Given the description of an element on the screen output the (x, y) to click on. 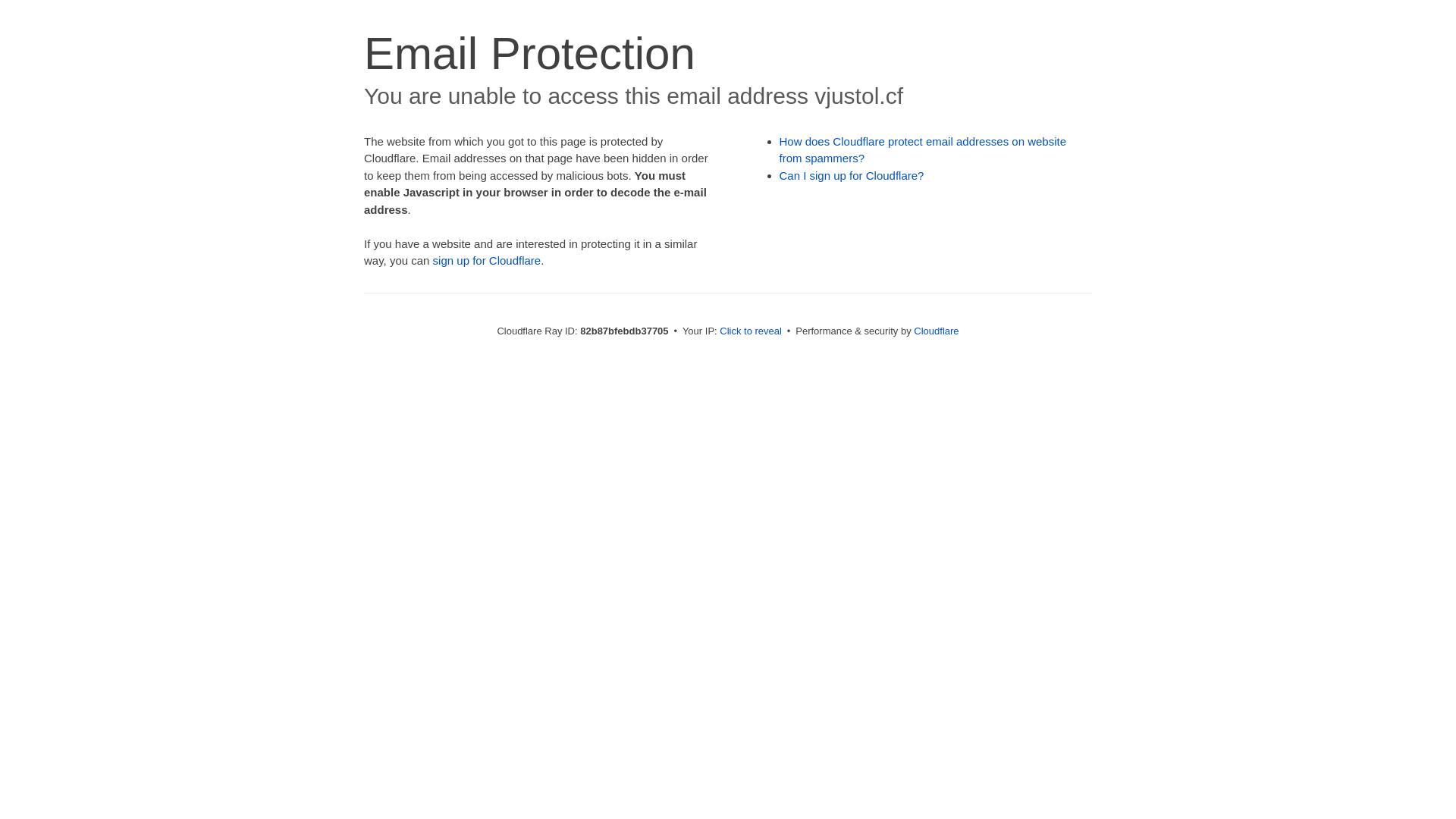
Cloudflare Element type: text (935, 330)
Click to reveal Element type: text (750, 330)
sign up for Cloudflare Element type: text (487, 260)
Can I sign up for Cloudflare? Element type: text (851, 175)
